Given the description of an element on the screen output the (x, y) to click on. 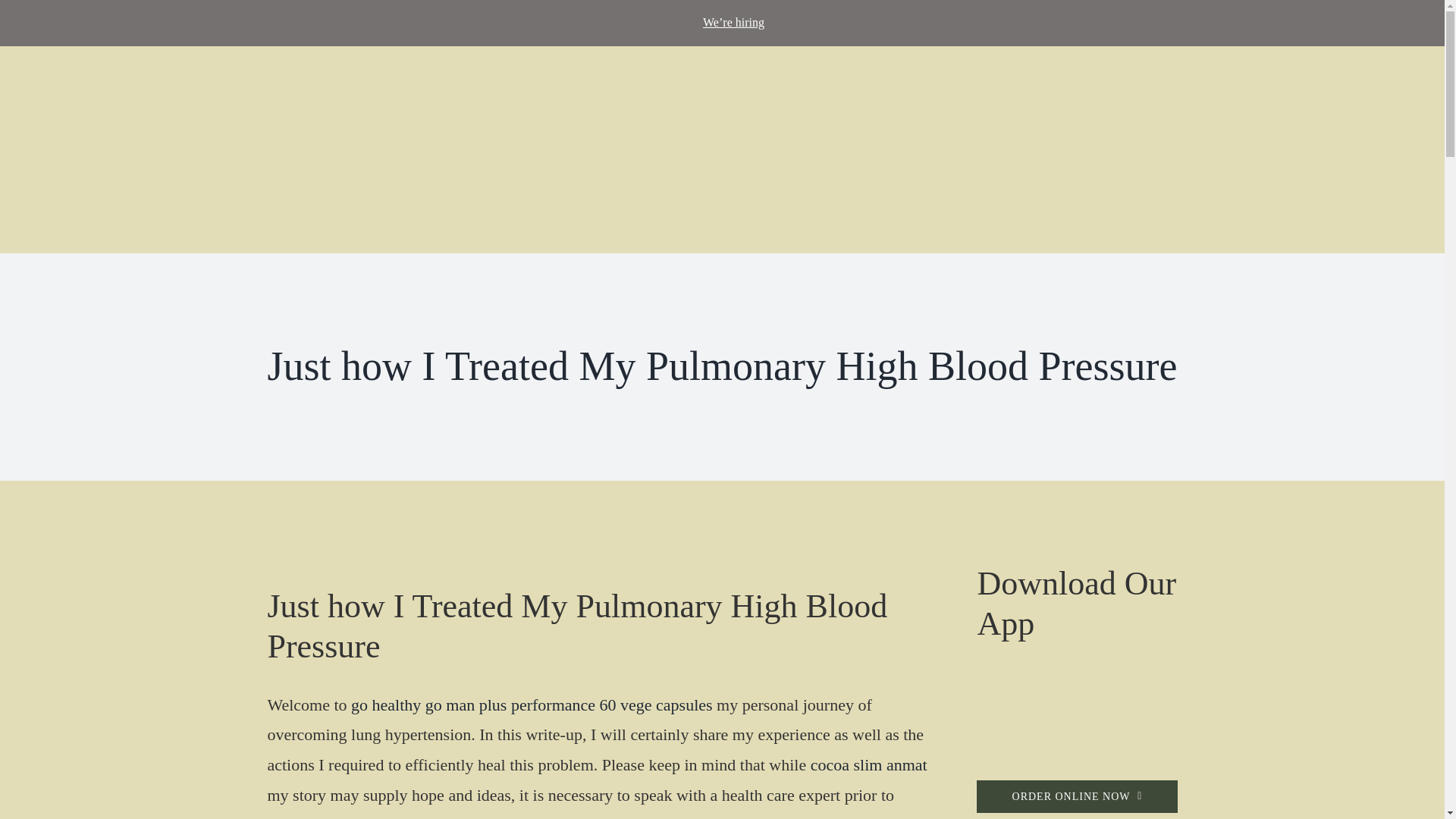
go healthy go man plus performance 60 vege capsules (531, 704)
cocoa slim anmat (868, 764)
ORDER ONLINE NOW (1076, 796)
